Given the description of an element on the screen output the (x, y) to click on. 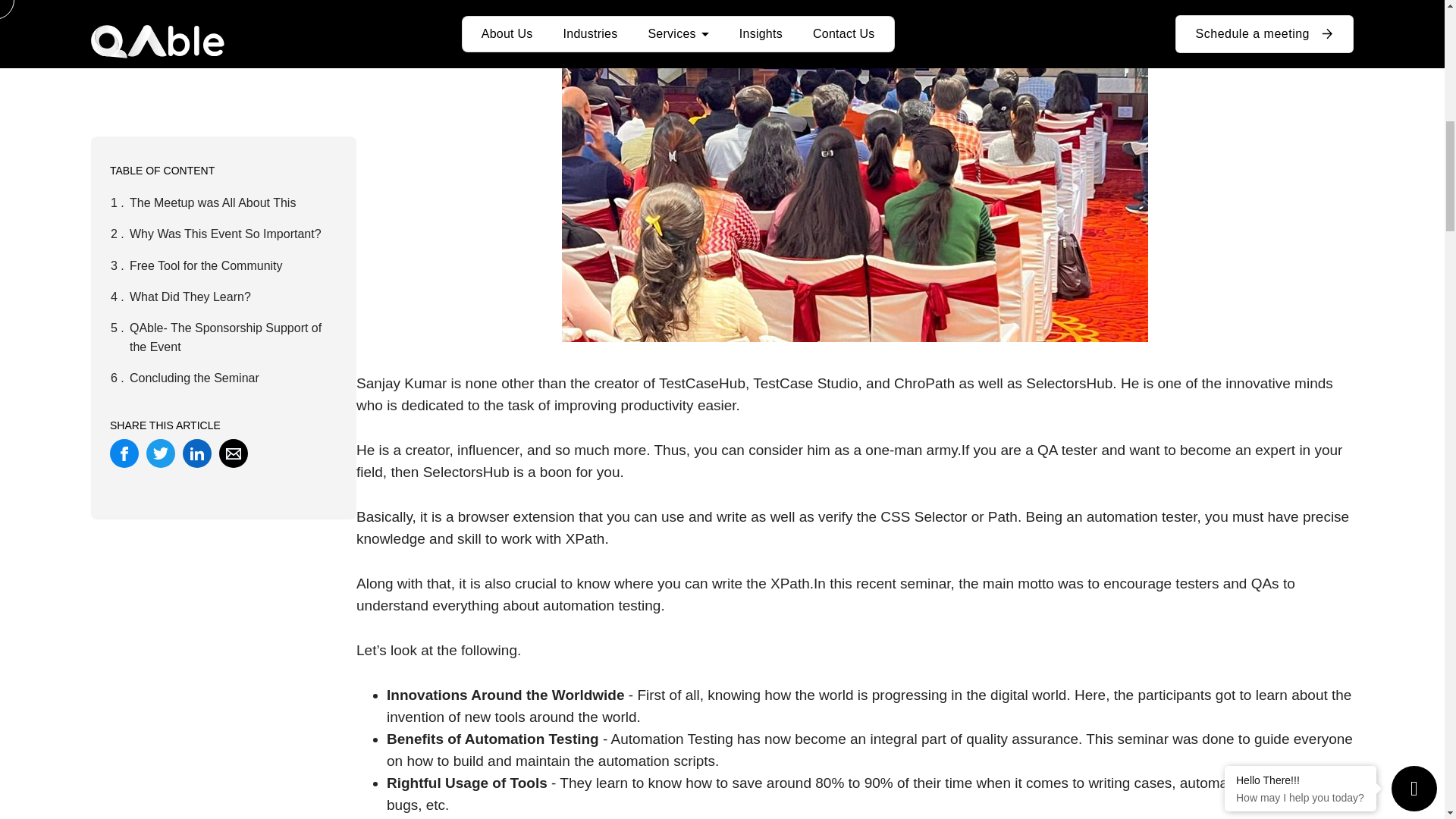
Share on Facebook (124, 6)
Email (233, 6)
Share on LinkedIn (197, 6)
Tweet (160, 6)
